Given the description of an element on the screen output the (x, y) to click on. 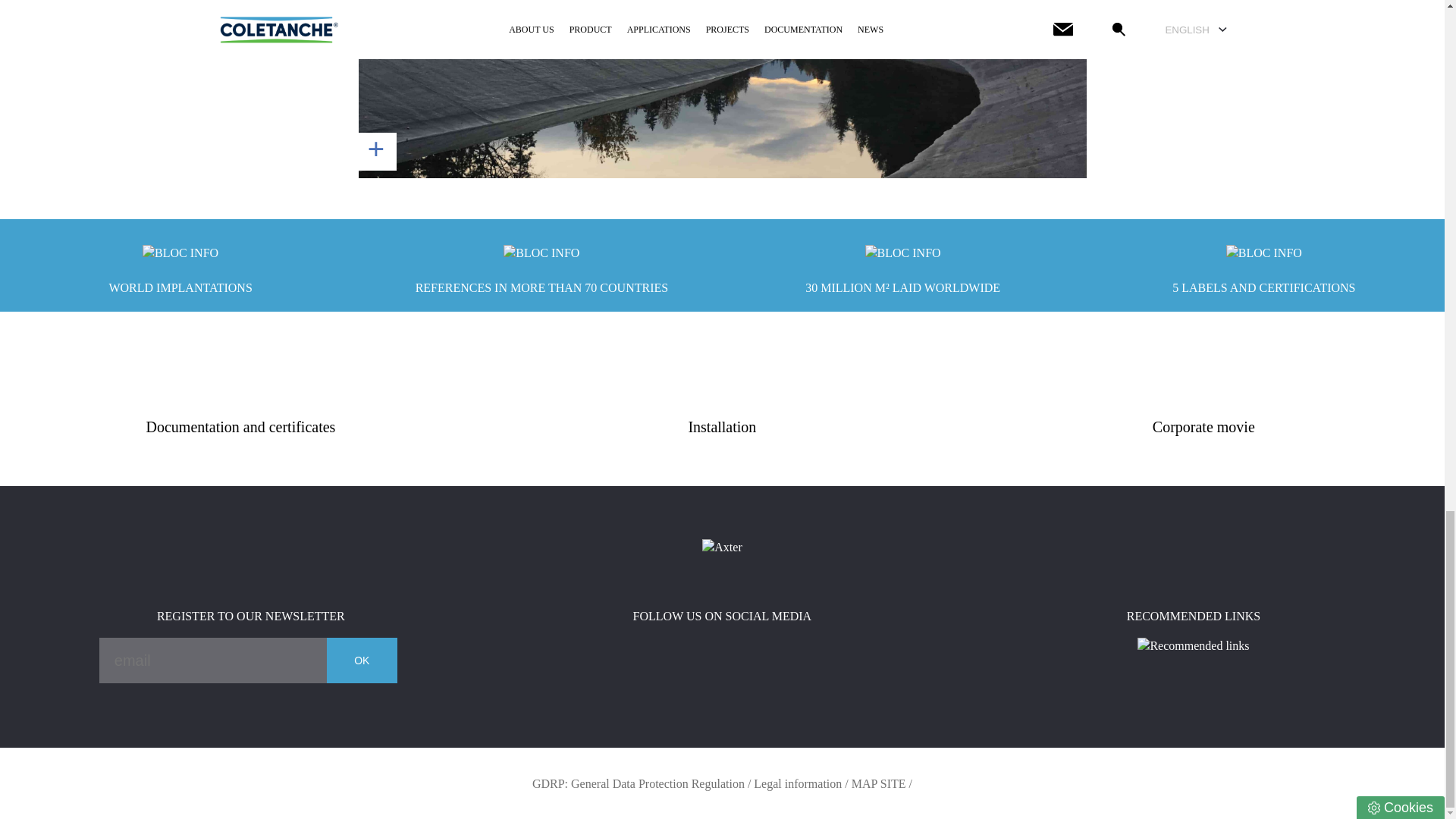
WORLD IMPLANTATIONS (180, 265)
Legal information (797, 783)
MAP SITE (878, 783)
Installation (721, 426)
ok (722, 89)
RECOMMENDED LINKS (1193, 631)
REFERENCES IN MORE THAN 70 COUNTRIES (541, 265)
Documentation and certificates (240, 426)
Axter (721, 547)
OK (361, 660)
GDRP: General Data Protection Regulation (638, 783)
Corporate movie (1203, 426)
